Given the description of an element on the screen output the (x, y) to click on. 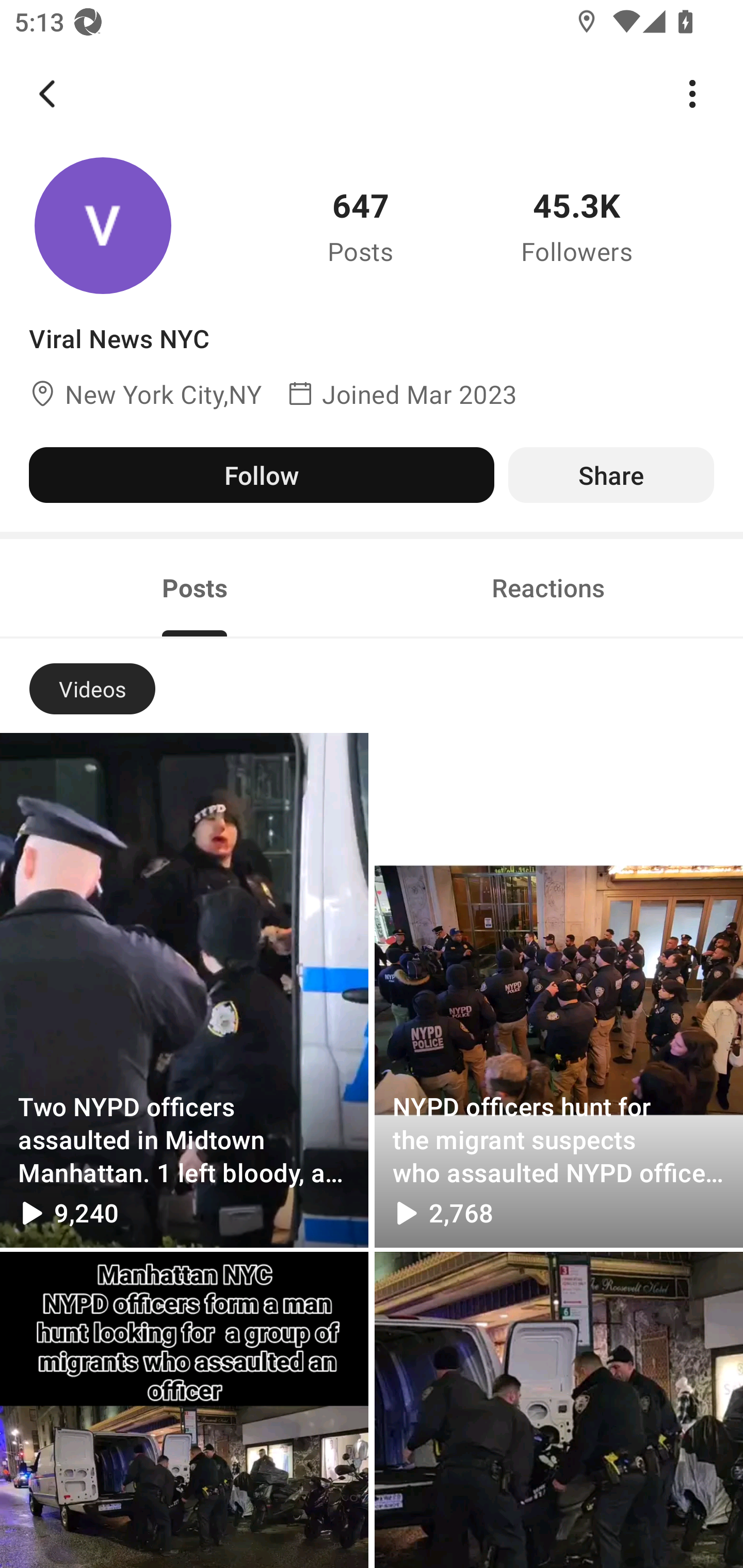
Follow (261, 474)
Share (611, 474)
Reactions (548, 587)
